Given the description of an element on the screen output the (x, y) to click on. 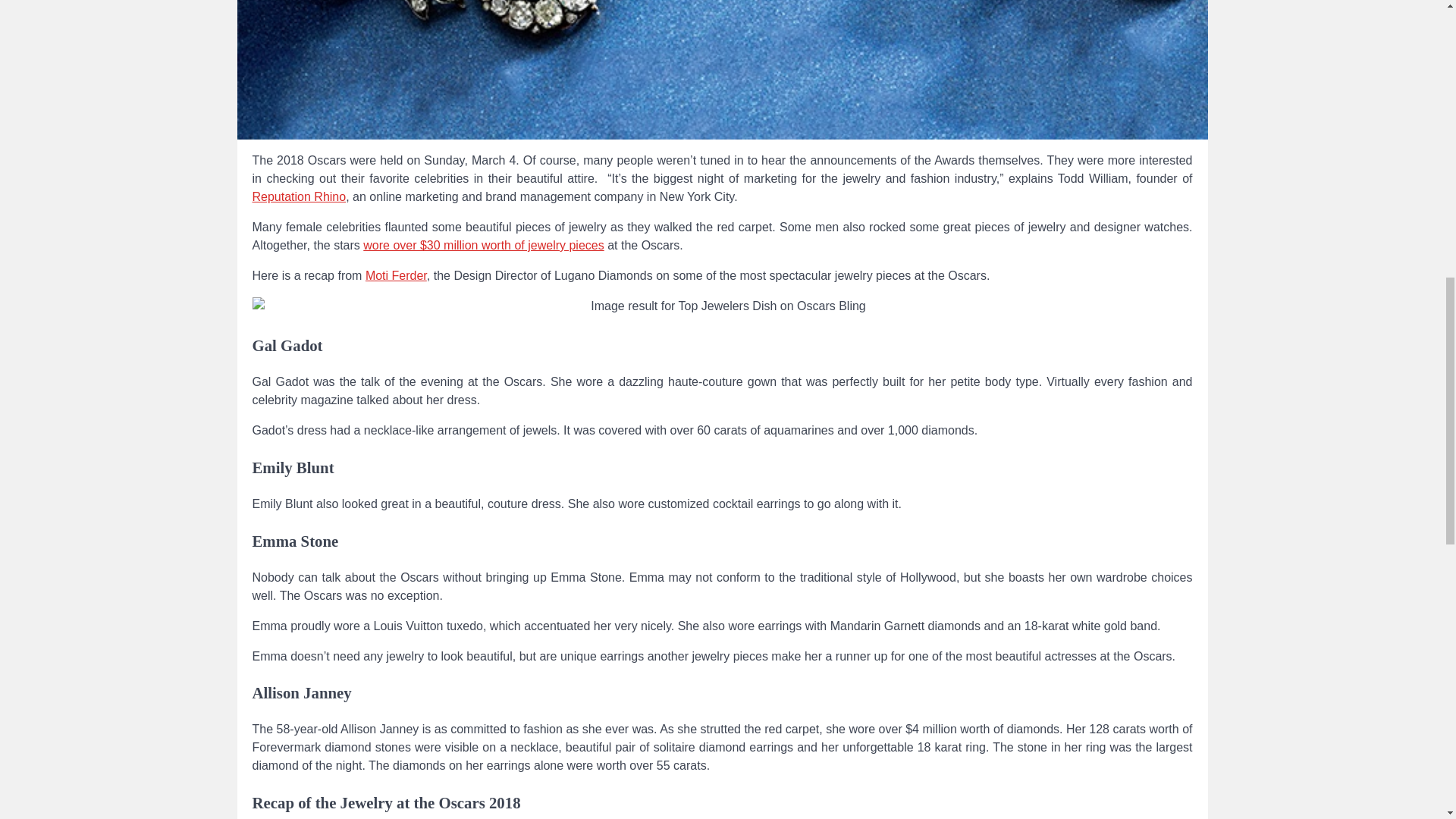
Reputation Rhino (298, 196)
Moti Ferder (395, 275)
